Given the description of an element on the screen output the (x, y) to click on. 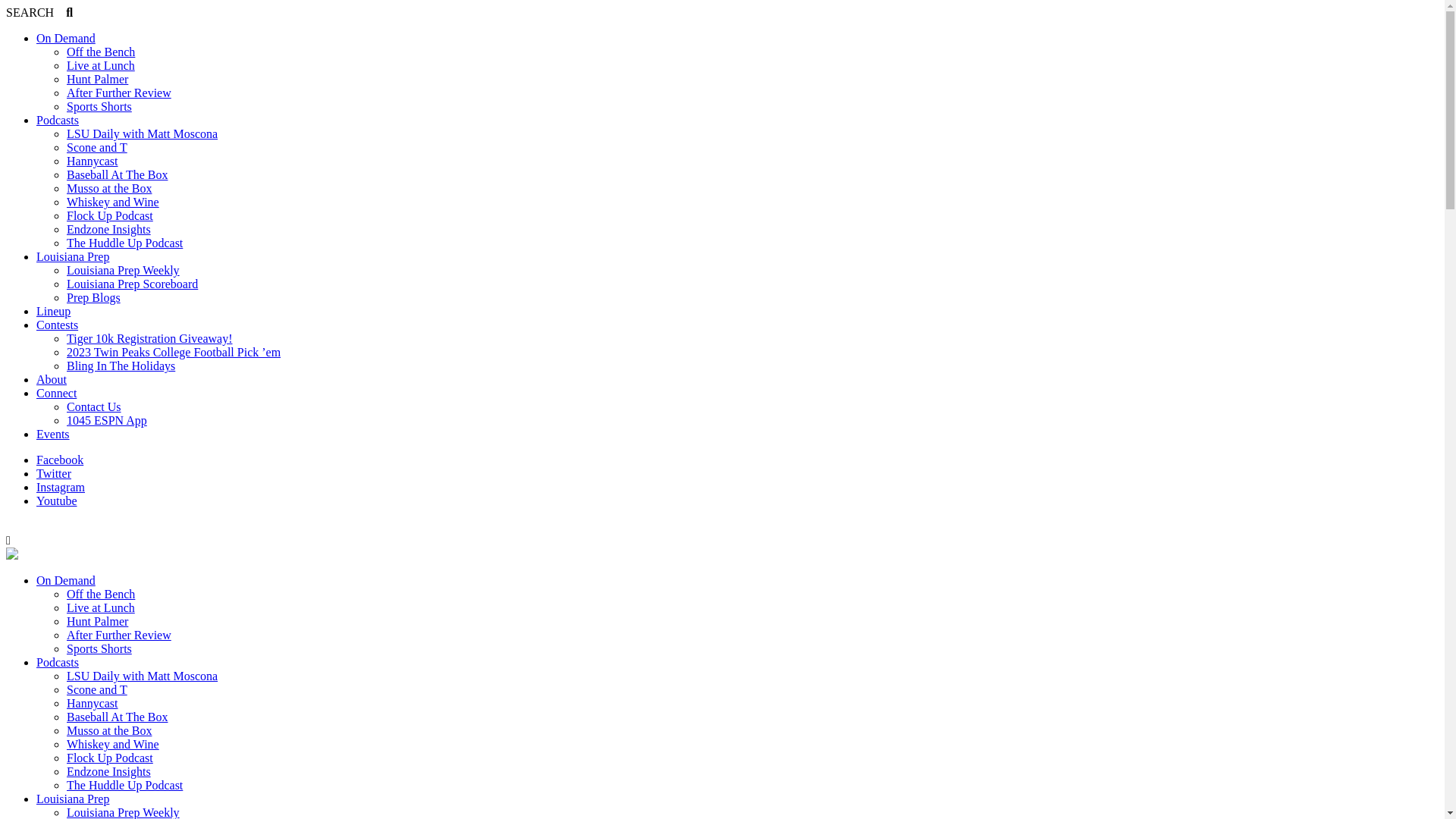
Louisiana Prep Weekly Element type: text (122, 269)
Bling In The Holidays Element type: text (120, 365)
Whiskey and Wine Element type: text (112, 201)
Flock Up Podcast Element type: text (109, 215)
Scone and T Element type: text (96, 689)
Youtube Element type: text (56, 500)
Events Element type: text (52, 433)
Louisiana Prep Element type: text (72, 798)
Podcasts Element type: text (57, 119)
Facebook Element type: text (59, 459)
Twitter Element type: text (53, 473)
The Huddle Up Podcast Element type: text (124, 784)
The Huddle Up Podcast Element type: text (124, 242)
Musso at the Box Element type: text (108, 188)
Endzone Insights Element type: text (108, 771)
LSU Daily with Matt Moscona Element type: text (141, 675)
Hunt Palmer Element type: text (97, 621)
Whiskey and Wine Element type: text (112, 743)
LSU Daily with Matt Moscona Element type: text (141, 133)
Instagram Element type: text (60, 486)
Endzone Insights Element type: text (108, 228)
Tiger 10k Registration Giveaway! Element type: text (149, 338)
Off the Bench Element type: text (100, 51)
Live at Lunch Element type: text (100, 65)
Hannycast Element type: text (92, 160)
Prep Blogs Element type: text (93, 297)
Musso at the Box Element type: text (108, 730)
Louisiana Prep Scoreboard Element type: text (131, 283)
After Further Review Element type: text (118, 634)
On Demand Element type: text (65, 580)
Lineup Element type: text (53, 310)
On Demand Element type: text (65, 37)
Flock Up Podcast Element type: text (109, 757)
About Element type: text (51, 379)
SEARCH Element type: text (39, 12)
Contact Us Element type: text (93, 406)
Contests Element type: text (57, 324)
Sports Shorts Element type: text (98, 106)
Baseball At The Box Element type: text (116, 716)
Podcasts Element type: text (57, 661)
Hunt Palmer Element type: text (97, 78)
Sports Shorts Element type: text (98, 648)
Louisiana Prep Element type: text (72, 256)
Baseball At The Box Element type: text (116, 174)
Connect Element type: text (56, 392)
Live at Lunch Element type: text (100, 607)
After Further Review Element type: text (118, 92)
Hannycast Element type: text (92, 702)
1045 ESPN App Element type: text (106, 420)
Off the Bench Element type: text (100, 593)
Scone and T Element type: text (96, 147)
